Given the description of an element on the screen output the (x, y) to click on. 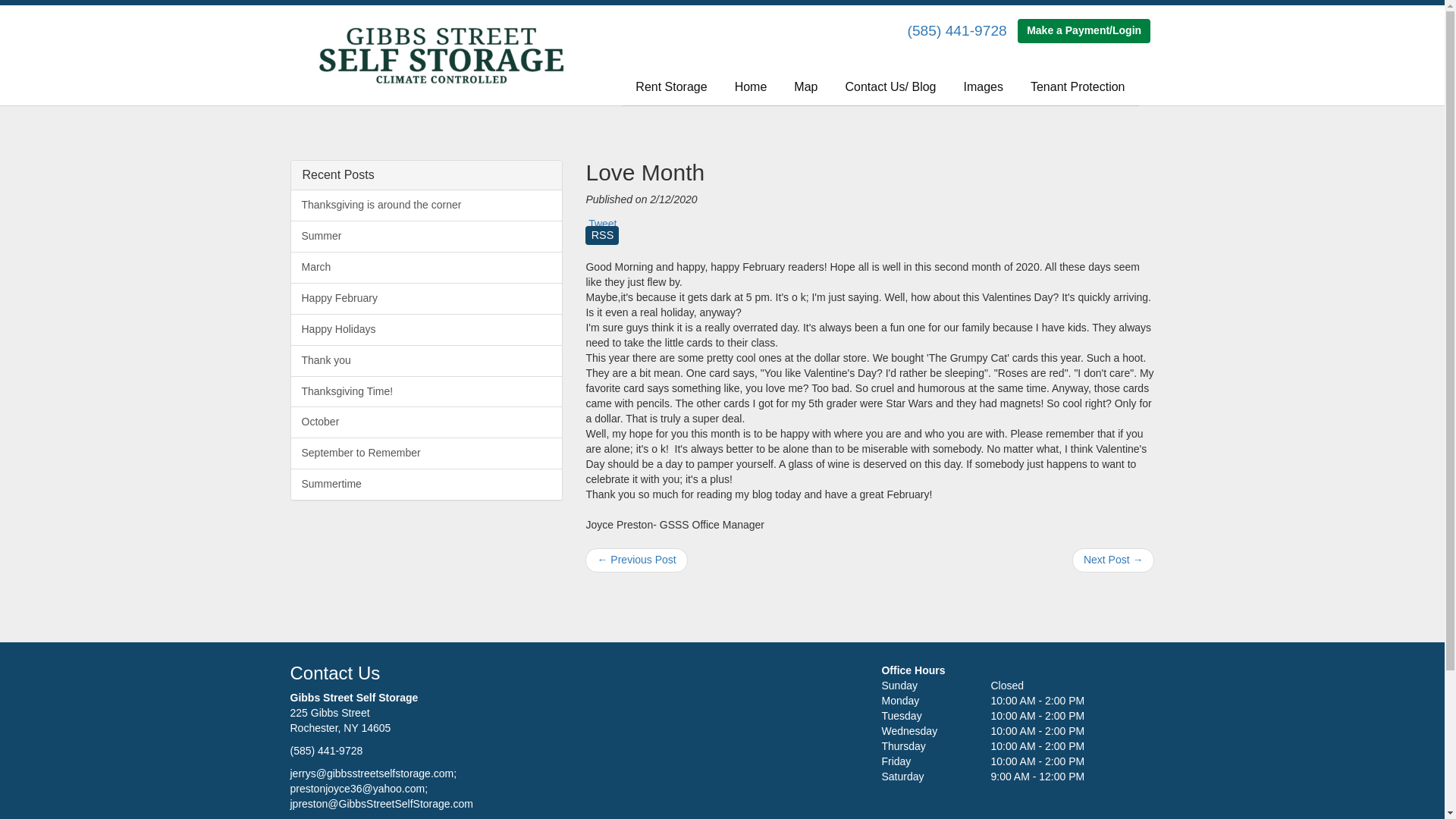
Thanksgiving is around the corner (426, 205)
Tweet (601, 223)
Tenant Protection (1077, 87)
Map (805, 87)
Happy February (426, 298)
Summer (426, 236)
March (426, 267)
RSS (601, 240)
Thanksgiving Time! (426, 391)
September to Remember (426, 453)
Rent Storage (670, 87)
Summertime (426, 483)
Happy Holidays (426, 329)
October (426, 422)
Home (750, 87)
